Given the description of an element on the screen output the (x, y) to click on. 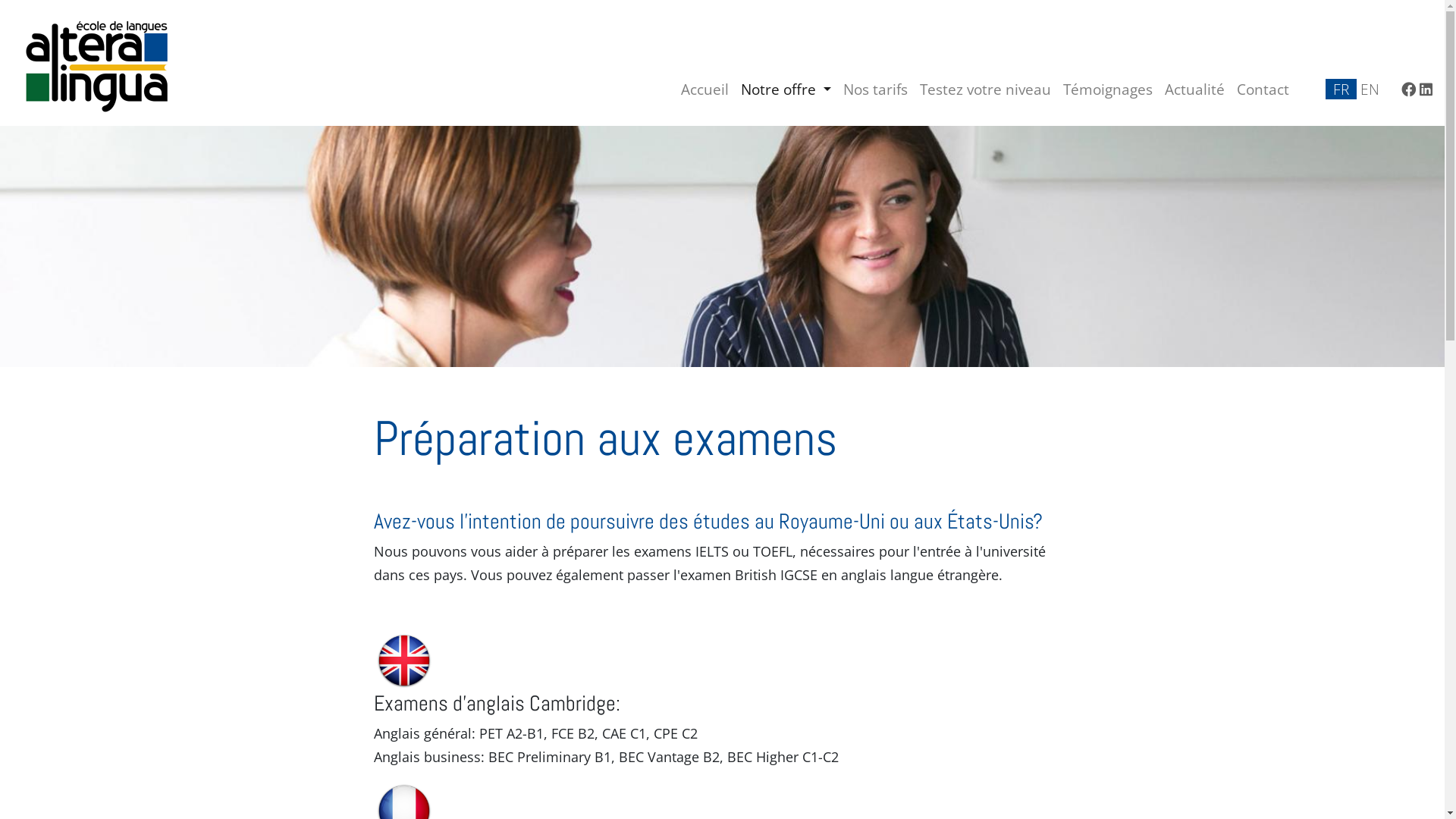
Contact Element type: text (1262, 89)
Testez votre niveau Element type: text (985, 89)
Nos tarifs Element type: text (875, 89)
Notre offre Element type: text (785, 89)
EN Element type: text (1369, 88)
Accueil Element type: text (704, 89)
